Given the description of an element on the screen output the (x, y) to click on. 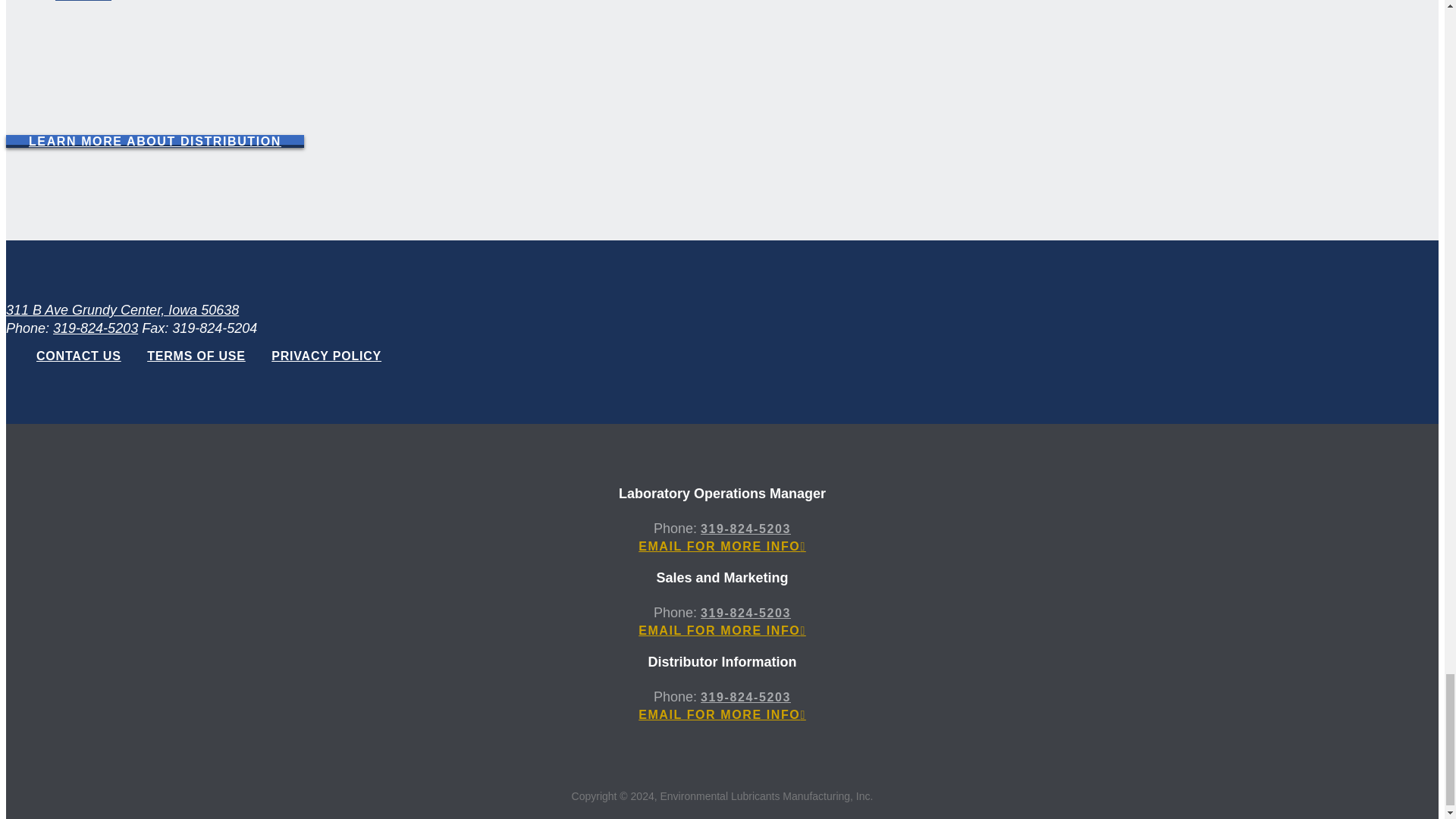
KOREA (83, 1)
LEARN MORE ABOUT DISTRIBUTION (154, 141)
CONTACT US (78, 355)
311 B Ave Grundy Center, Iowa 50638 (121, 309)
319-824-5203 (95, 328)
